Given the description of an element on the screen output the (x, y) to click on. 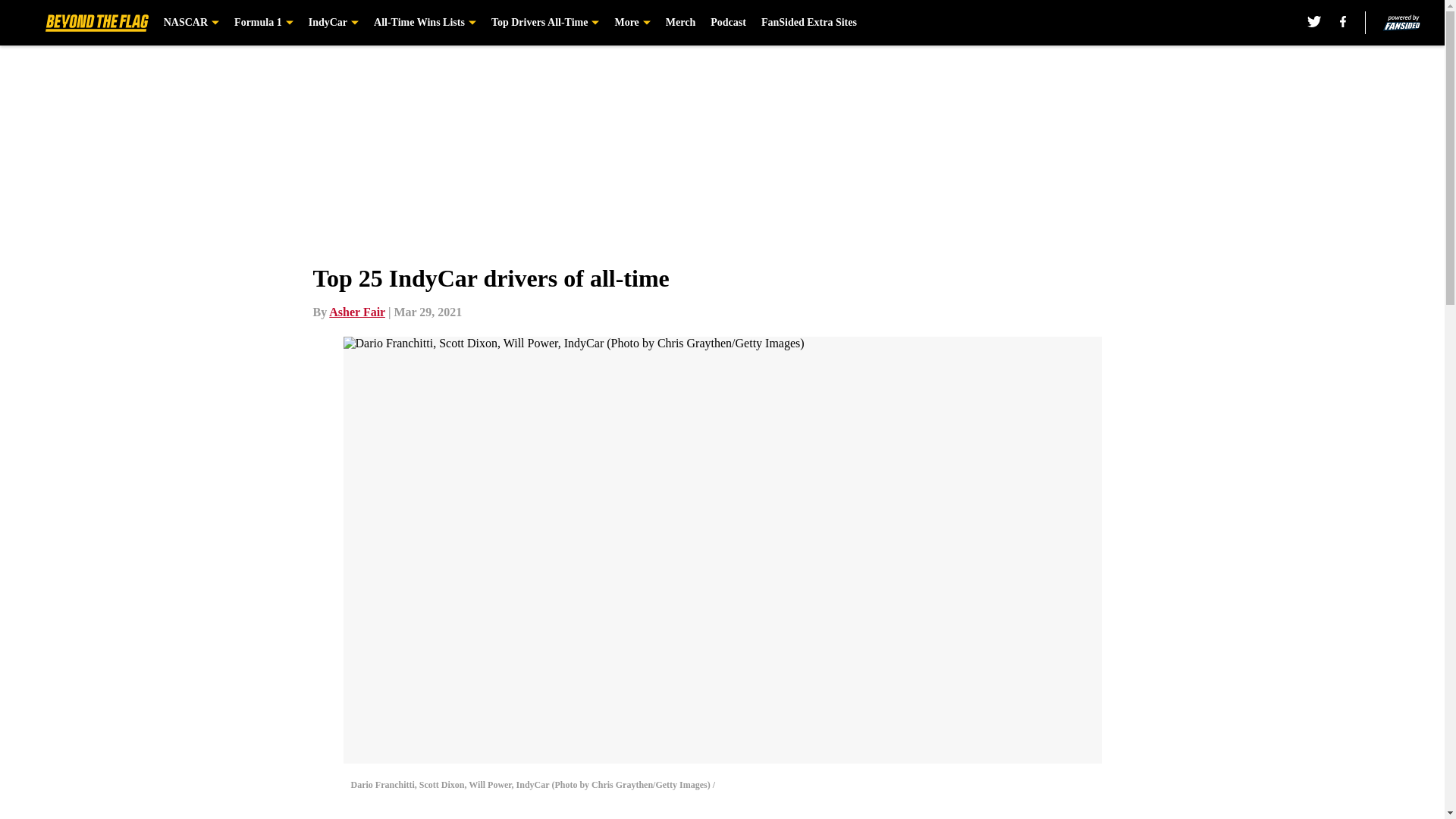
Merch (680, 22)
Podcast (727, 22)
FanSided Extra Sites (809, 22)
Asher Fair (357, 311)
